Given the description of an element on the screen output the (x, y) to click on. 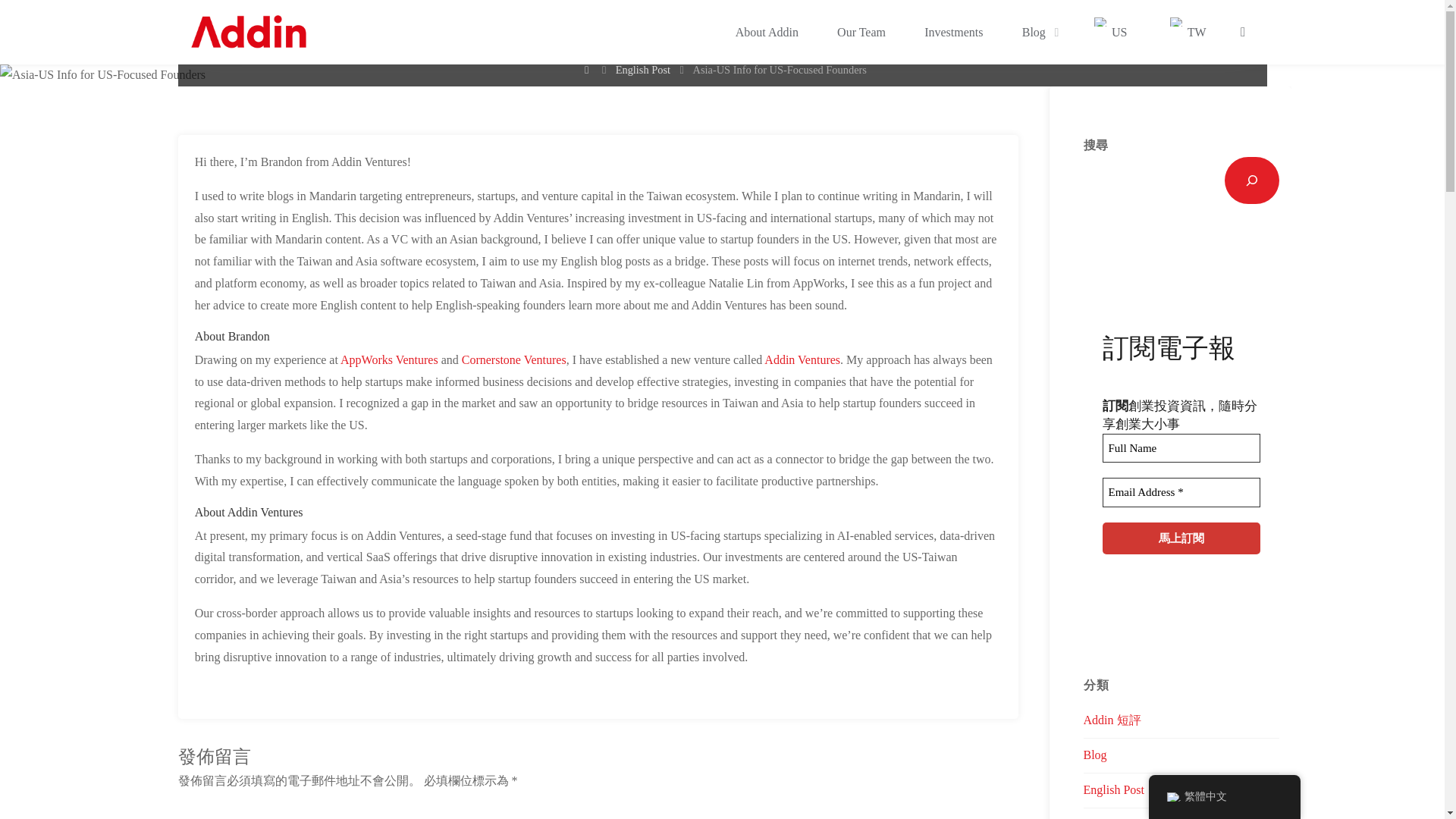
English (1101, 21)
Investments (954, 32)
US (1108, 32)
English Post (642, 71)
Our Team (860, 32)
Blog (1036, 32)
TW (1186, 32)
Home (586, 71)
About Addin (766, 32)
